Given the description of an element on the screen output the (x, y) to click on. 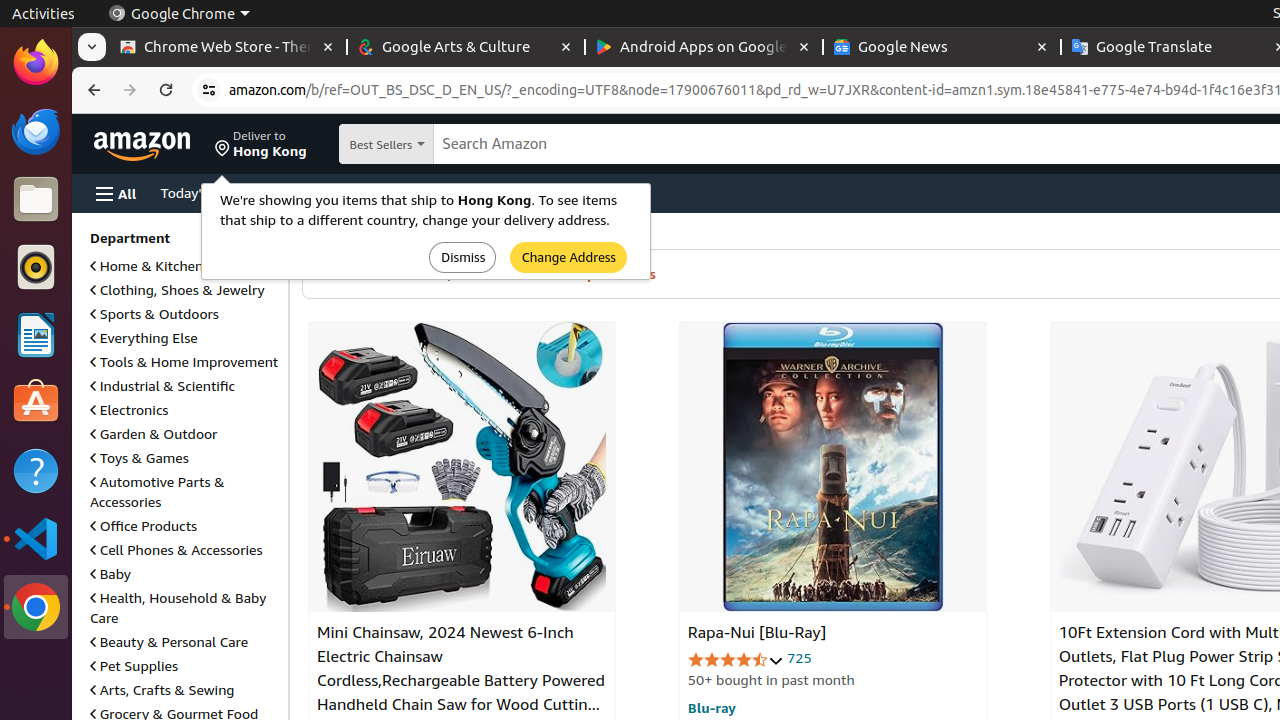
Rhythmbox Element type: push-button (36, 267)
Firefox Web Browser Element type: push-button (36, 63)
Skip to main content Element type: link (154, 142)
Sell Element type: link (578, 192)
Cell Phones & Accessories Element type: link (176, 549)
